Given the description of an element on the screen output the (x, y) to click on. 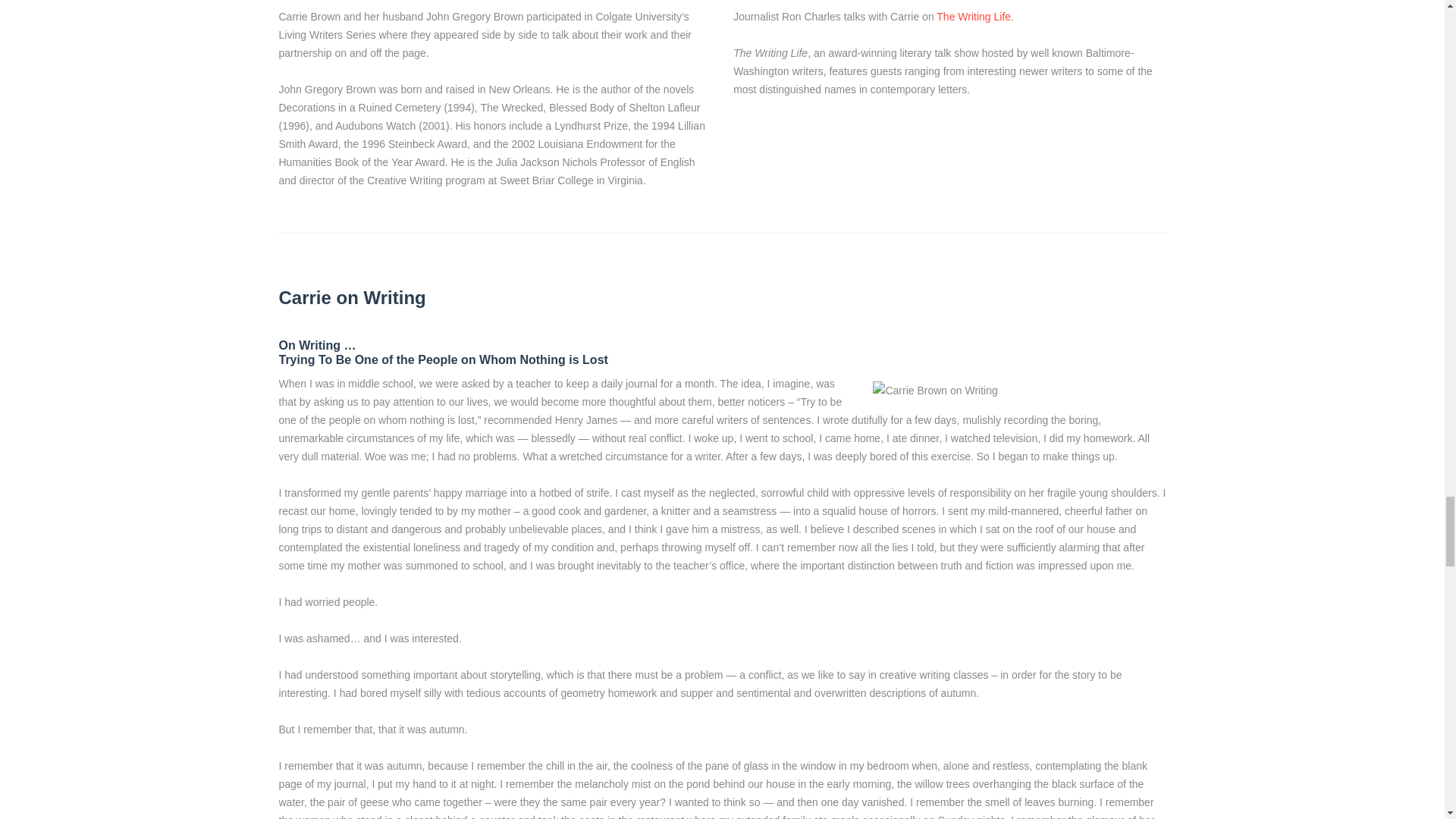
The Writing Life (973, 16)
